Given the description of an element on the screen output the (x, y) to click on. 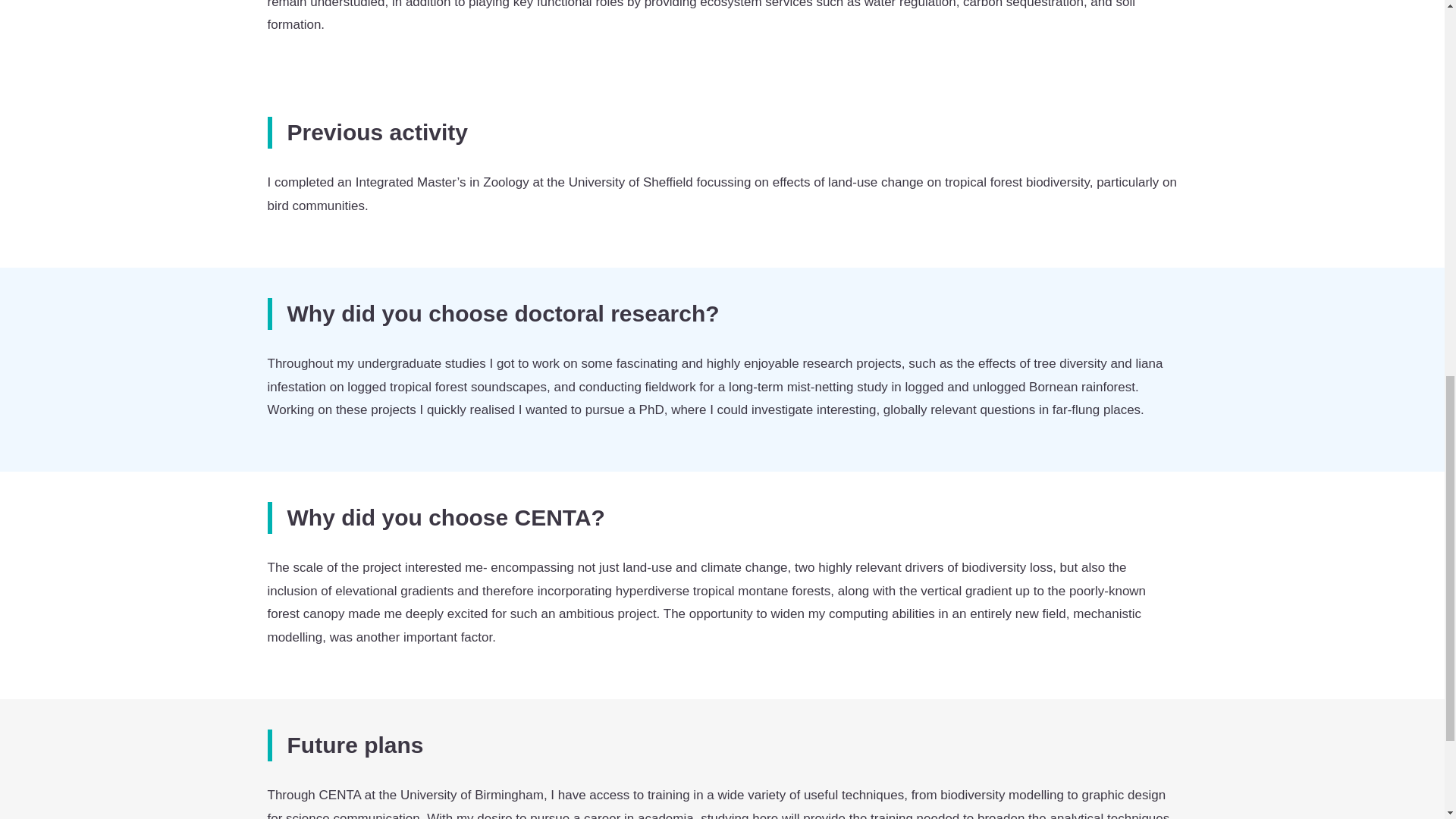
Scroll back to top (1406, 720)
